Given the description of an element on the screen output the (x, y) to click on. 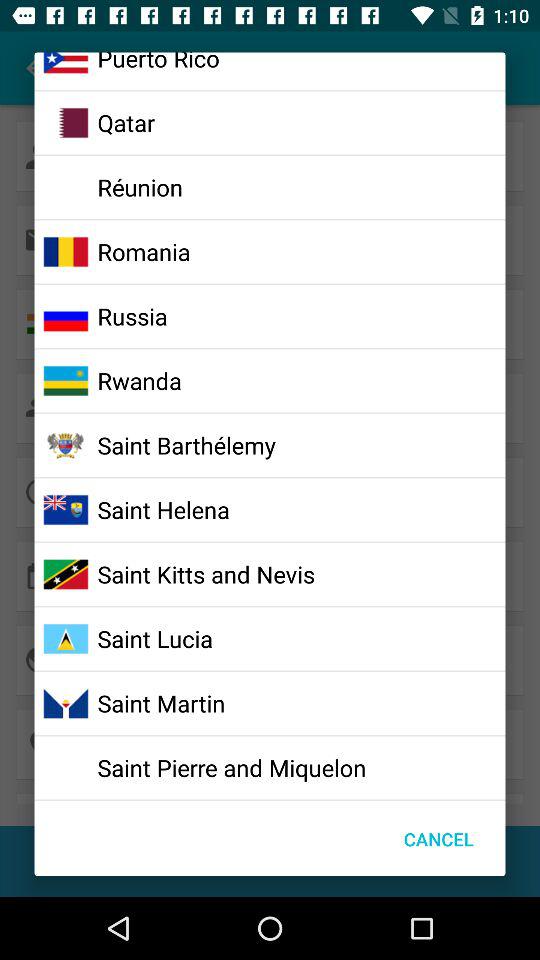
turn on the qatar icon (125, 122)
